Given the description of an element on the screen output the (x, y) to click on. 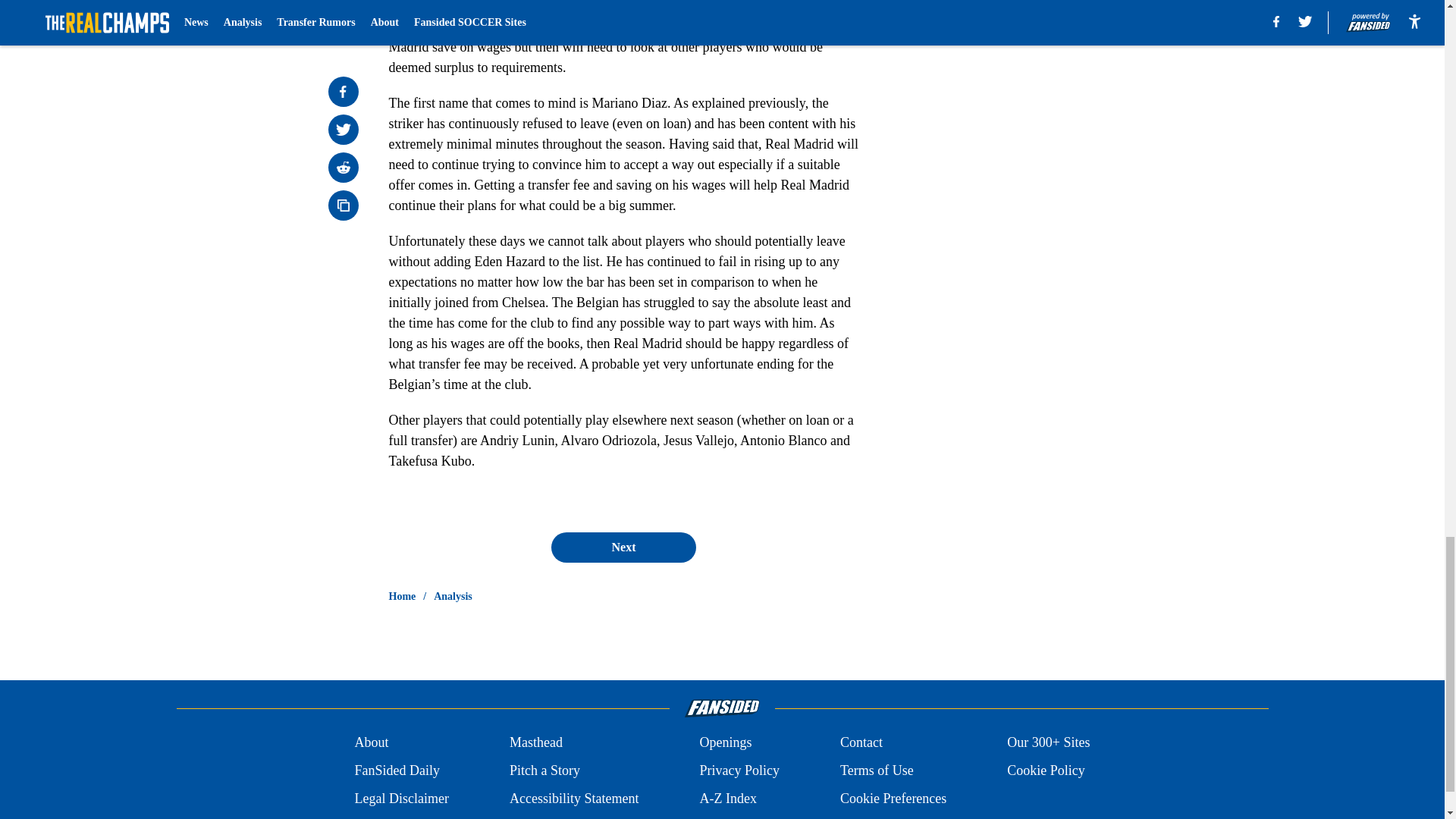
Accessibility Statement (574, 798)
Privacy Policy (738, 770)
Analysis (452, 596)
About (370, 742)
Cookie Policy (1045, 770)
FanSided Daily (396, 770)
Home (401, 596)
Terms of Use (877, 770)
Openings (724, 742)
Next (622, 547)
A-Z Index (726, 798)
Legal Disclaimer (400, 798)
Pitch a Story (544, 770)
Contact (861, 742)
Cookie Preferences (893, 798)
